Given the description of an element on the screen output the (x, y) to click on. 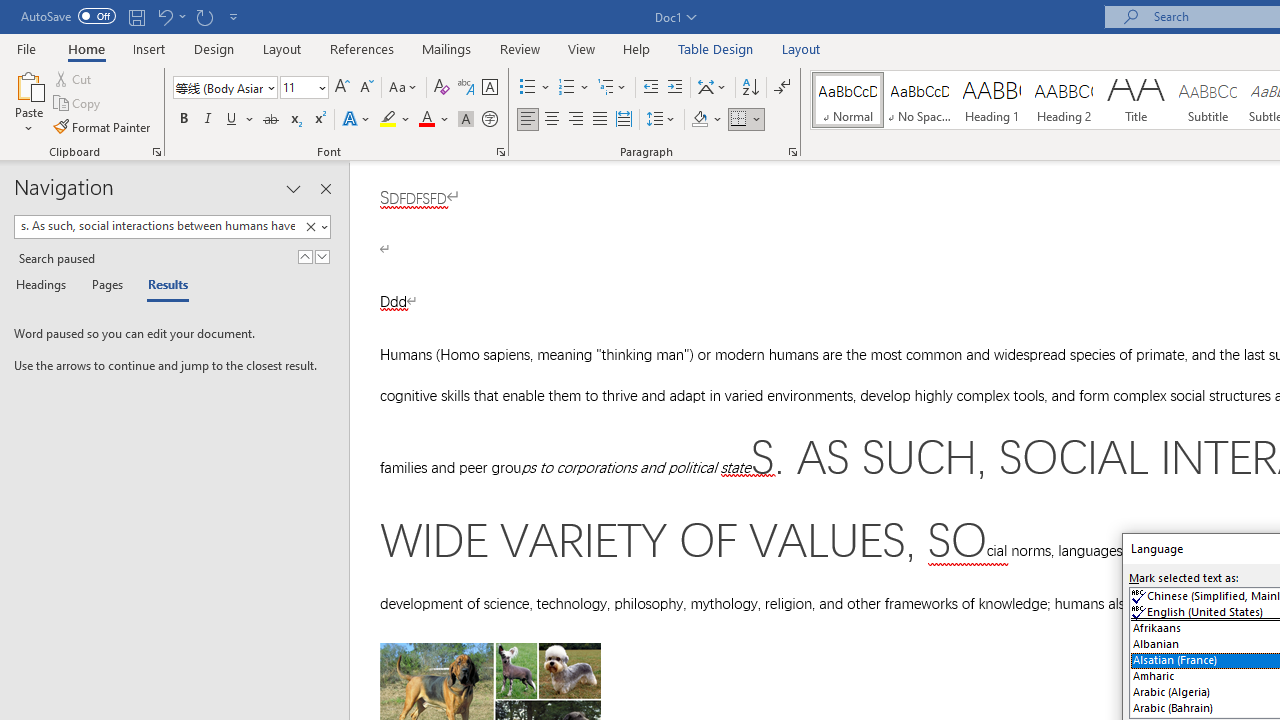
Numbering (573, 87)
Show/Hide Editing Marks (781, 87)
View (582, 48)
Align Right (575, 119)
Next Result (322, 256)
Title (1135, 100)
Clear (314, 227)
Text Highlight Color (395, 119)
System (10, 11)
Task Pane Options (293, 188)
Justify (599, 119)
System (10, 11)
Search document (157, 226)
References (362, 48)
Paste (28, 102)
